Given the description of an element on the screen output the (x, y) to click on. 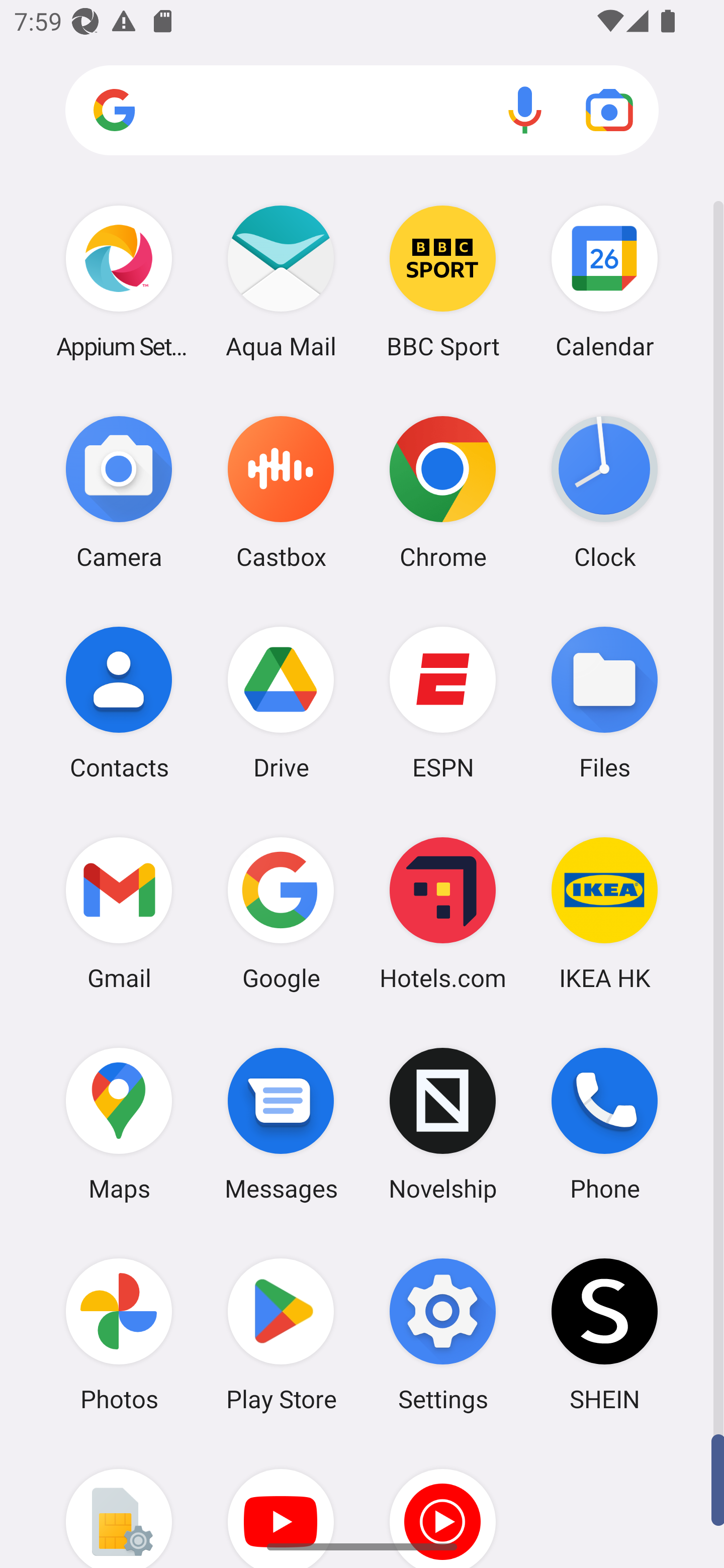
Search apps, web and more (361, 110)
Voice search (524, 109)
Google Lens (608, 109)
Appium Settings (118, 281)
Aqua Mail (280, 281)
BBC Sport (443, 281)
Calendar (604, 281)
Camera (118, 492)
Castbox (280, 492)
Chrome (443, 492)
Clock (604, 492)
Contacts (118, 702)
Drive (280, 702)
ESPN (443, 702)
Files (604, 702)
Gmail (118, 913)
Google (280, 913)
Hotels.com (443, 913)
IKEA HK (604, 913)
Maps (118, 1124)
Messages (280, 1124)
Novelship (443, 1124)
Phone (604, 1124)
Photos (118, 1334)
Play Store (280, 1334)
Settings (443, 1334)
SHEIN (604, 1334)
TMoble (118, 1503)
YouTube (280, 1503)
YT Music (443, 1503)
